Given the description of an element on the screen output the (x, y) to click on. 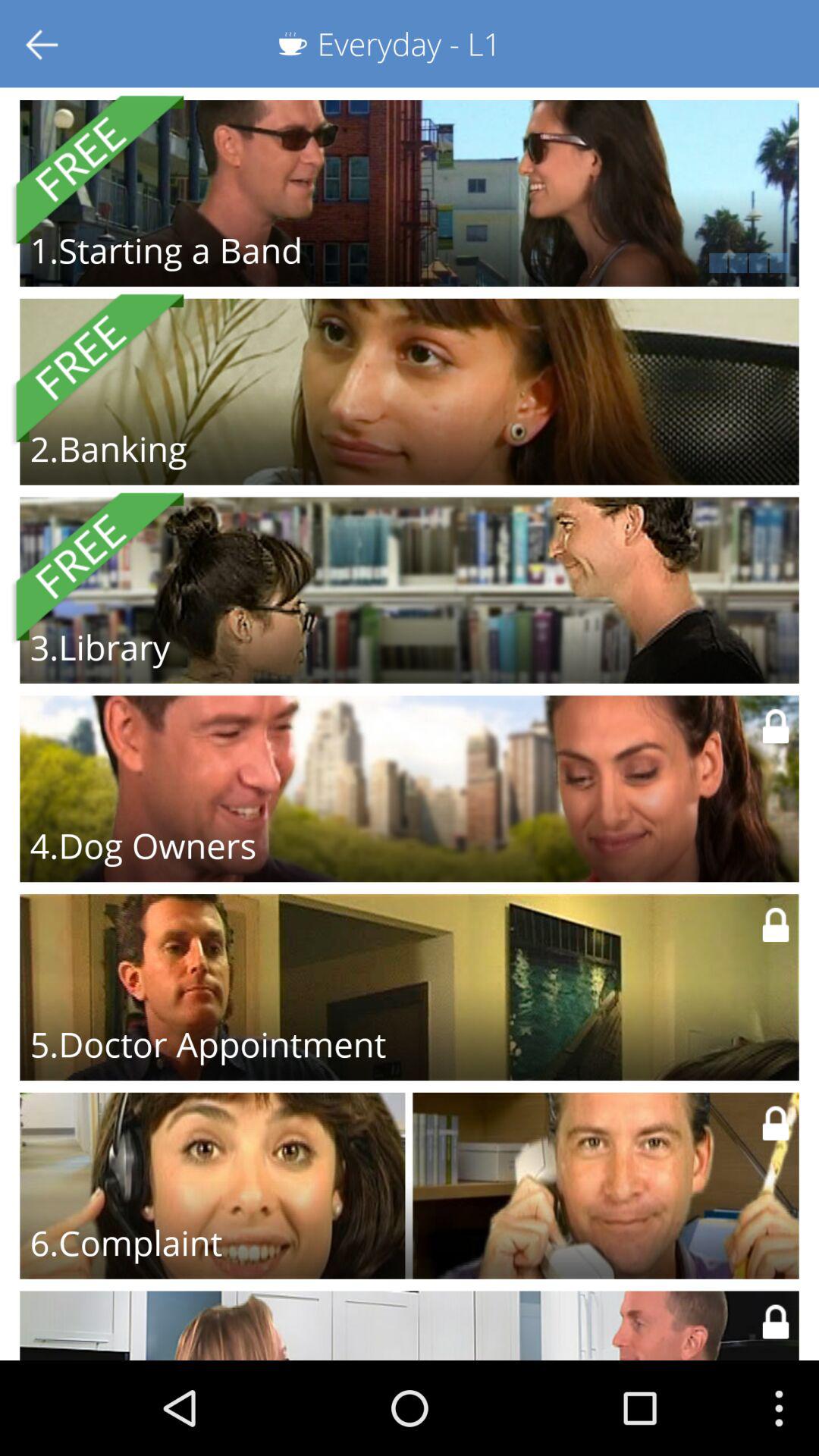
swipe to the 2.banking item (108, 448)
